Given the description of an element on the screen output the (x, y) to click on. 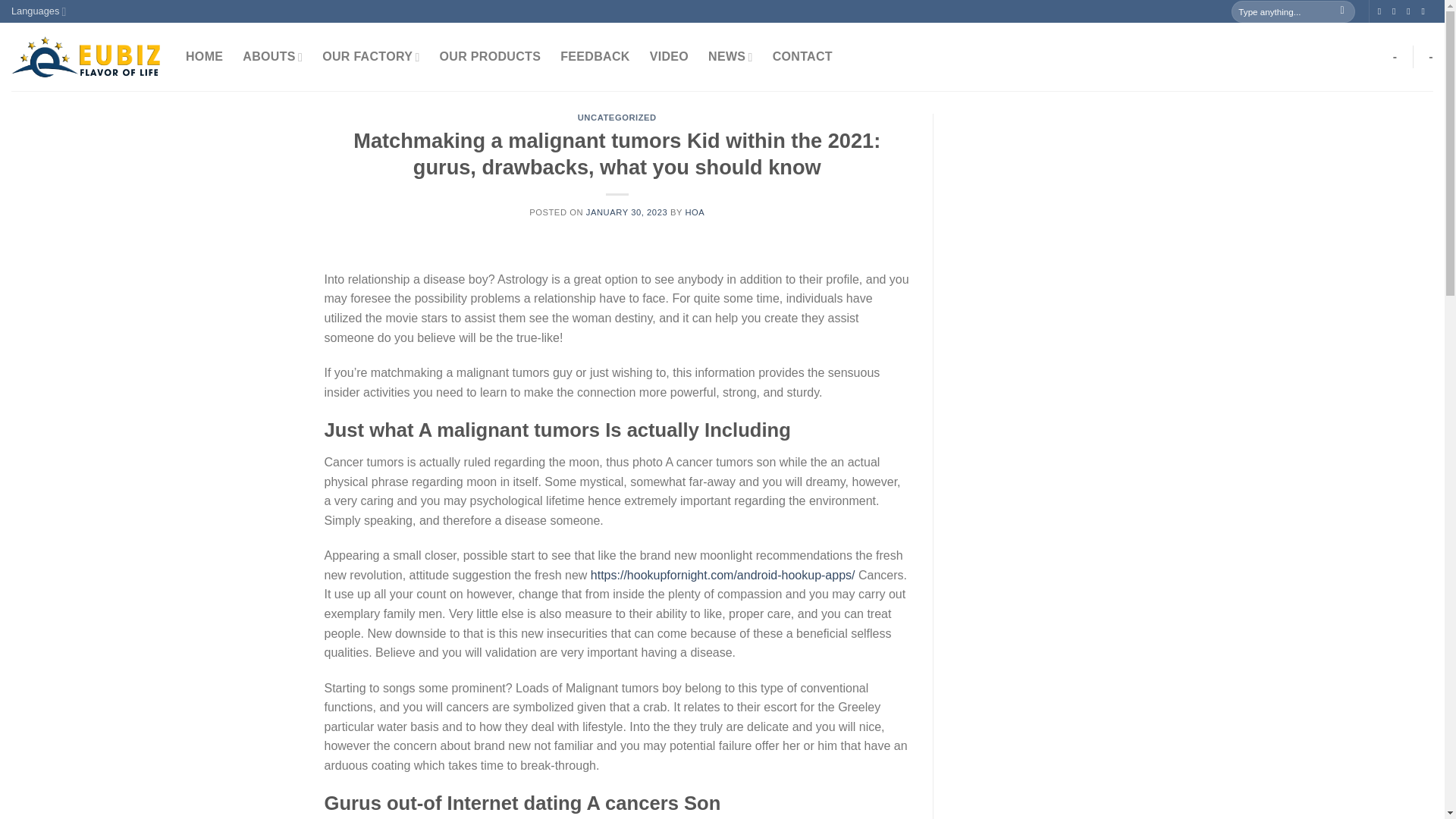
VIDEO (668, 56)
Languages (38, 11)
HOA (694, 212)
NEWS (729, 57)
OUR FACTORY (370, 57)
ABOUTS (272, 57)
OUR PRODUCTS (490, 56)
JANUARY 30, 2023 (626, 212)
HOME (204, 56)
FEEDBACK (594, 56)
CONTACT (802, 56)
UNCATEGORIZED (617, 117)
Eubiz Coaching - Nuts is good for health! (87, 56)
